Given the description of an element on the screen output the (x, y) to click on. 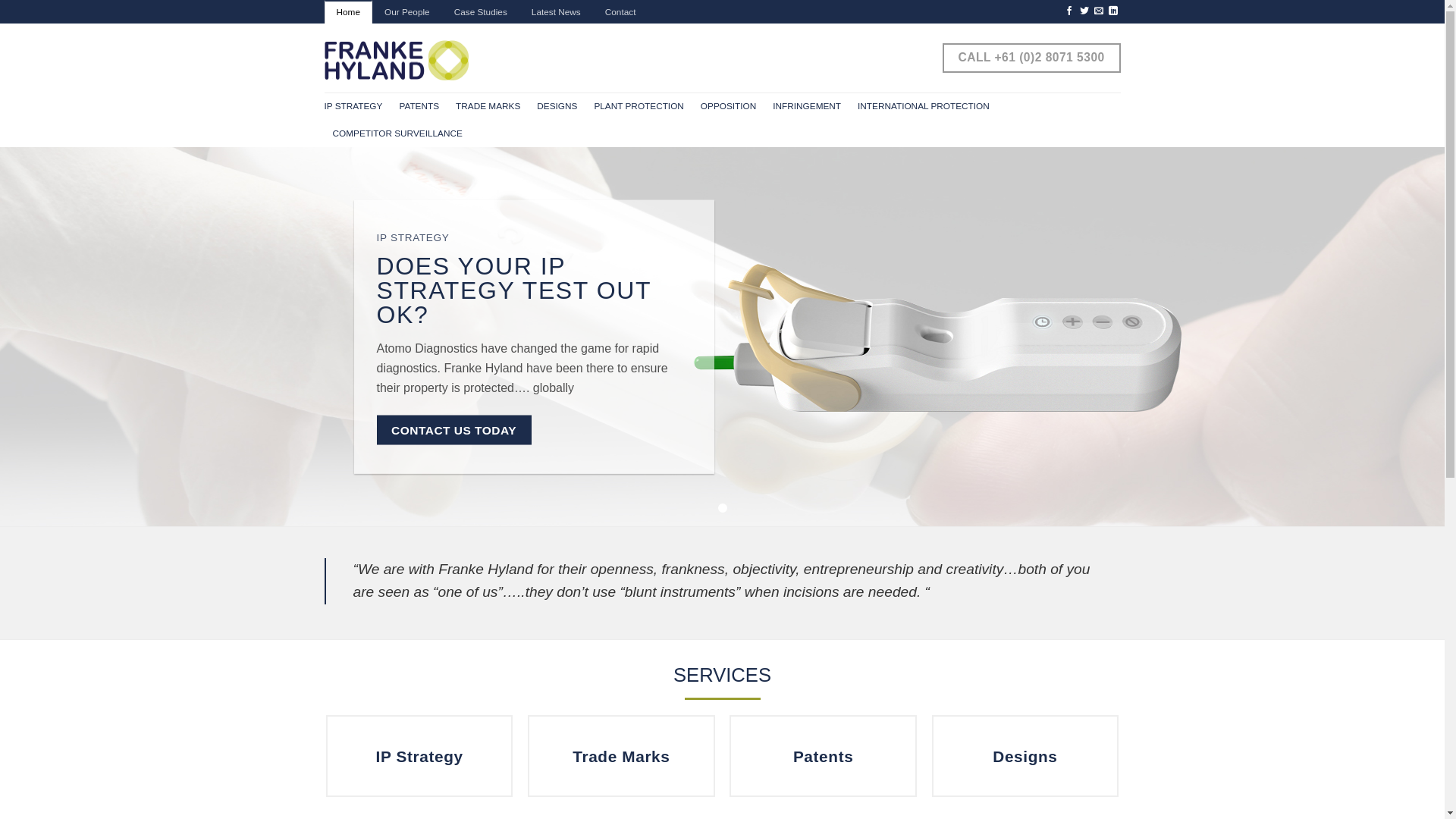
Our People Element type: text (407, 11)
Contact Element type: text (620, 11)
TRADE MARKS Element type: text (487, 105)
PLANT PROTECTION Element type: text (638, 105)
OPPOSITION Element type: text (728, 105)
Latest News Element type: text (556, 11)
IP Strategy Element type: text (419, 756)
Trade Marks Element type: text (621, 756)
Franke Hyland - How does your IP Strategy Shape Up? Element type: hover (397, 60)
CALL +61 (0)2 8071 5300 Element type: text (1031, 57)
COMPETITOR SURVEILLANCE Element type: text (396, 133)
IP STRATEGY Element type: text (353, 105)
DESIGNS Element type: text (556, 105)
Case Studies Element type: text (480, 11)
Home Element type: text (348, 11)
CONTACT US TODAY Element type: text (453, 429)
PATENTS Element type: text (418, 105)
Patents Element type: text (822, 756)
INTERNATIONAL PROTECTION Element type: text (923, 105)
Designs Element type: text (1025, 756)
INFRINGEMENT Element type: text (806, 105)
